Given the description of an element on the screen output the (x, y) to click on. 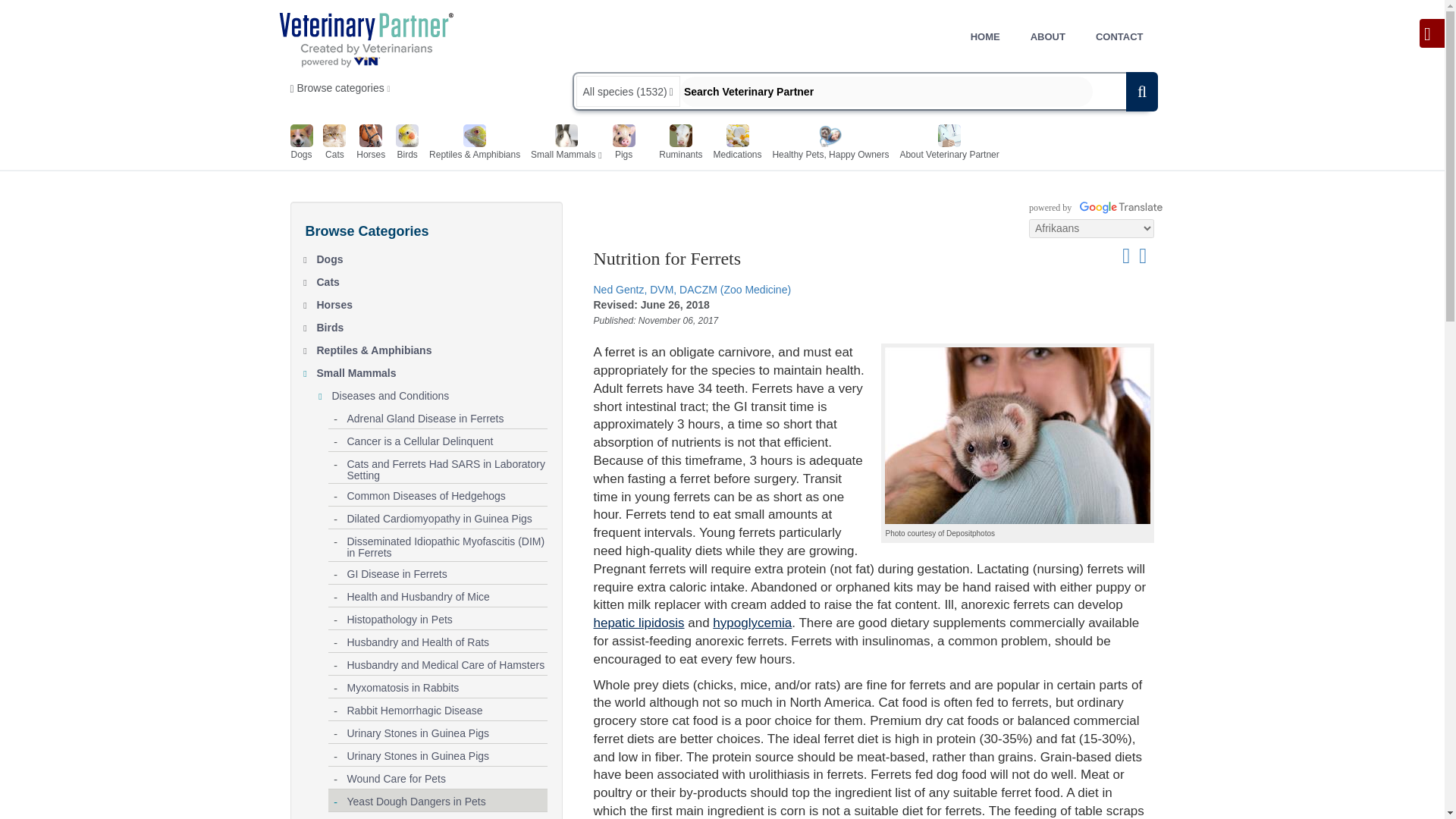
Horses (370, 144)
Small Mammals (563, 144)
ABOUT (1047, 36)
Adrenal Gland Disease in Ferrets (447, 415)
Cats (432, 279)
About Veterinary Partner (948, 144)
Birds (432, 324)
Healthy Pets, Happy Owners (829, 144)
Diseases and Conditions (439, 393)
Medications (737, 144)
Ruminants (680, 144)
Horses (432, 301)
Dogs (432, 256)
Small Mammals (432, 370)
